Given the description of an element on the screen output the (x, y) to click on. 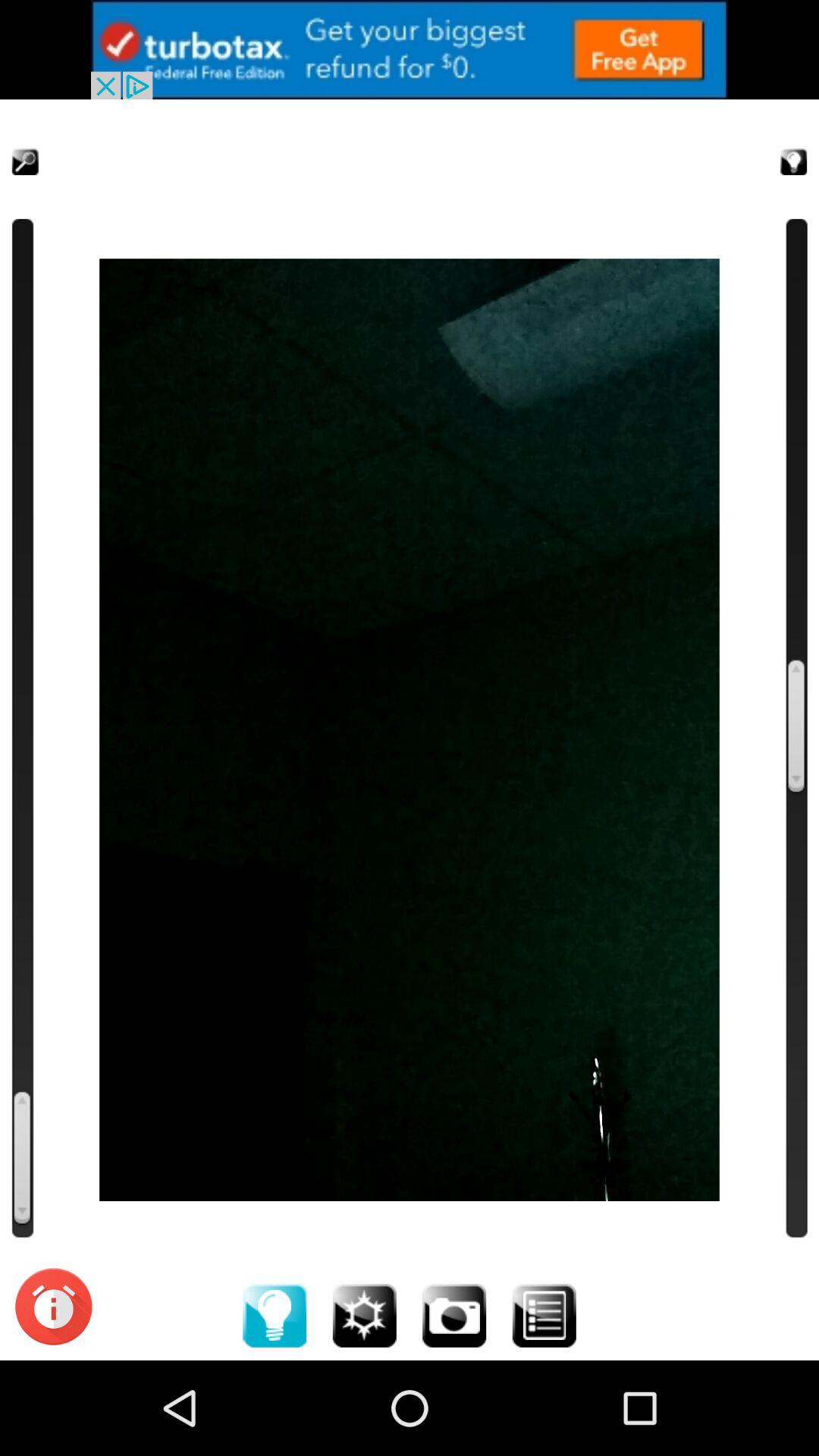
weather (364, 1315)
